Given the description of an element on the screen output the (x, y) to click on. 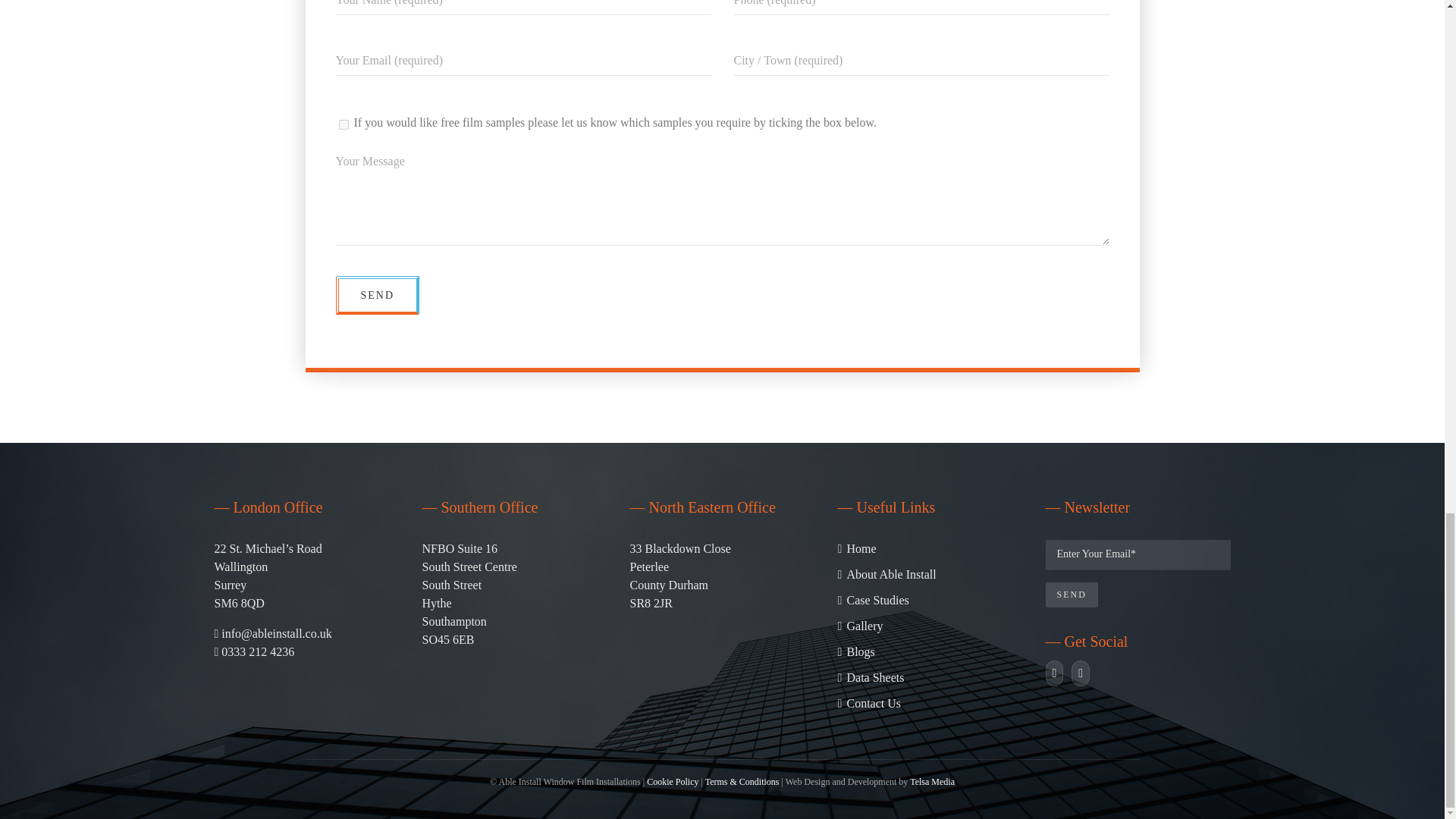
Send (376, 295)
Send (1071, 594)
